Given the description of an element on the screen output the (x, y) to click on. 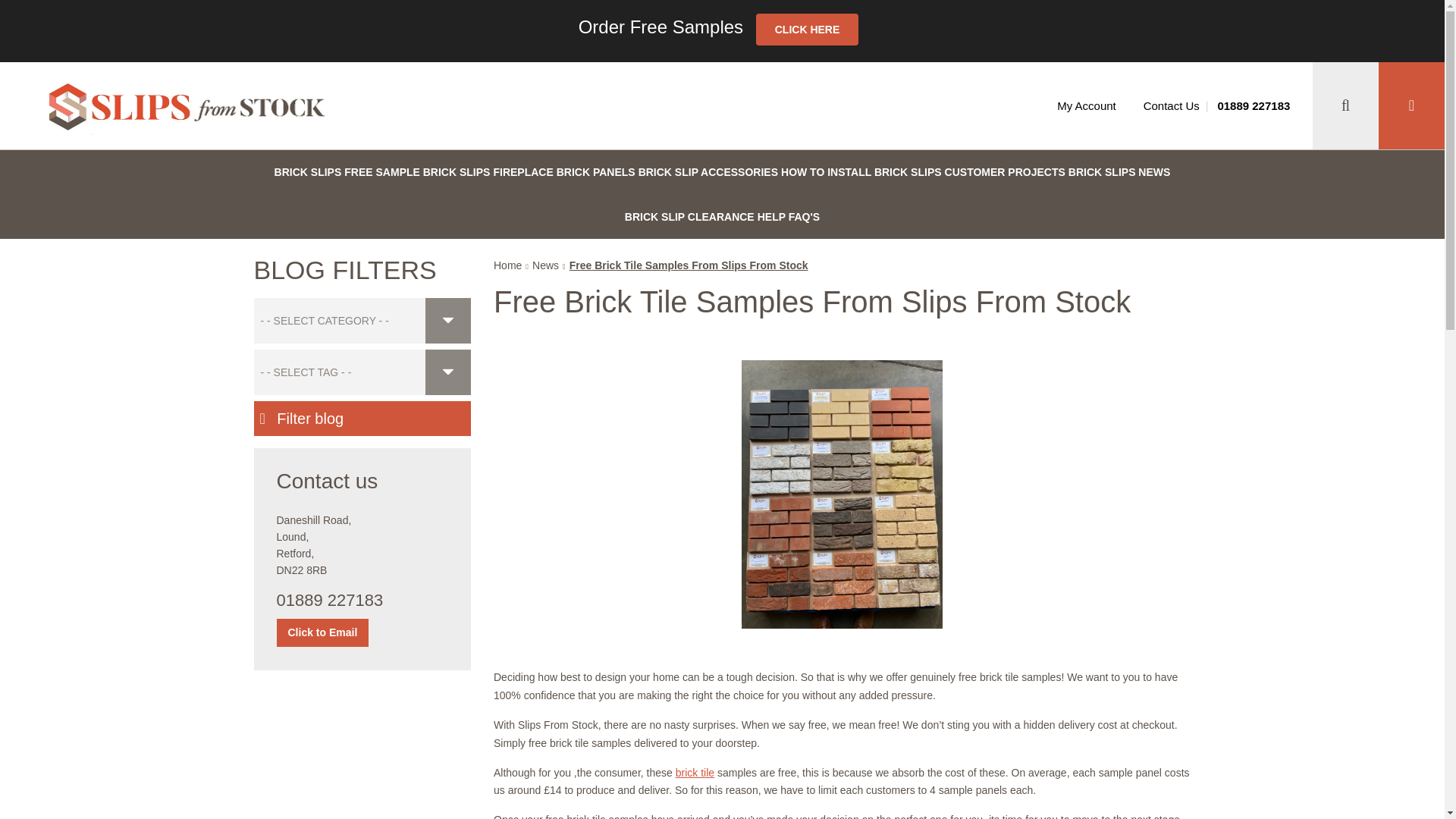
CUSTOMER PROJECTS (1004, 171)
Free Sample Brick Slips (416, 171)
Home (507, 265)
HELP FAQ'S (788, 216)
HOW TO INSTALL BRICK SLIPS (861, 171)
Filter blog (361, 418)
BRICK SLIP ACCESSORIES (708, 171)
Slips From Stock (186, 109)
Fireplace Brick Panels (563, 171)
Customer Projects (1004, 171)
